Given the description of an element on the screen output the (x, y) to click on. 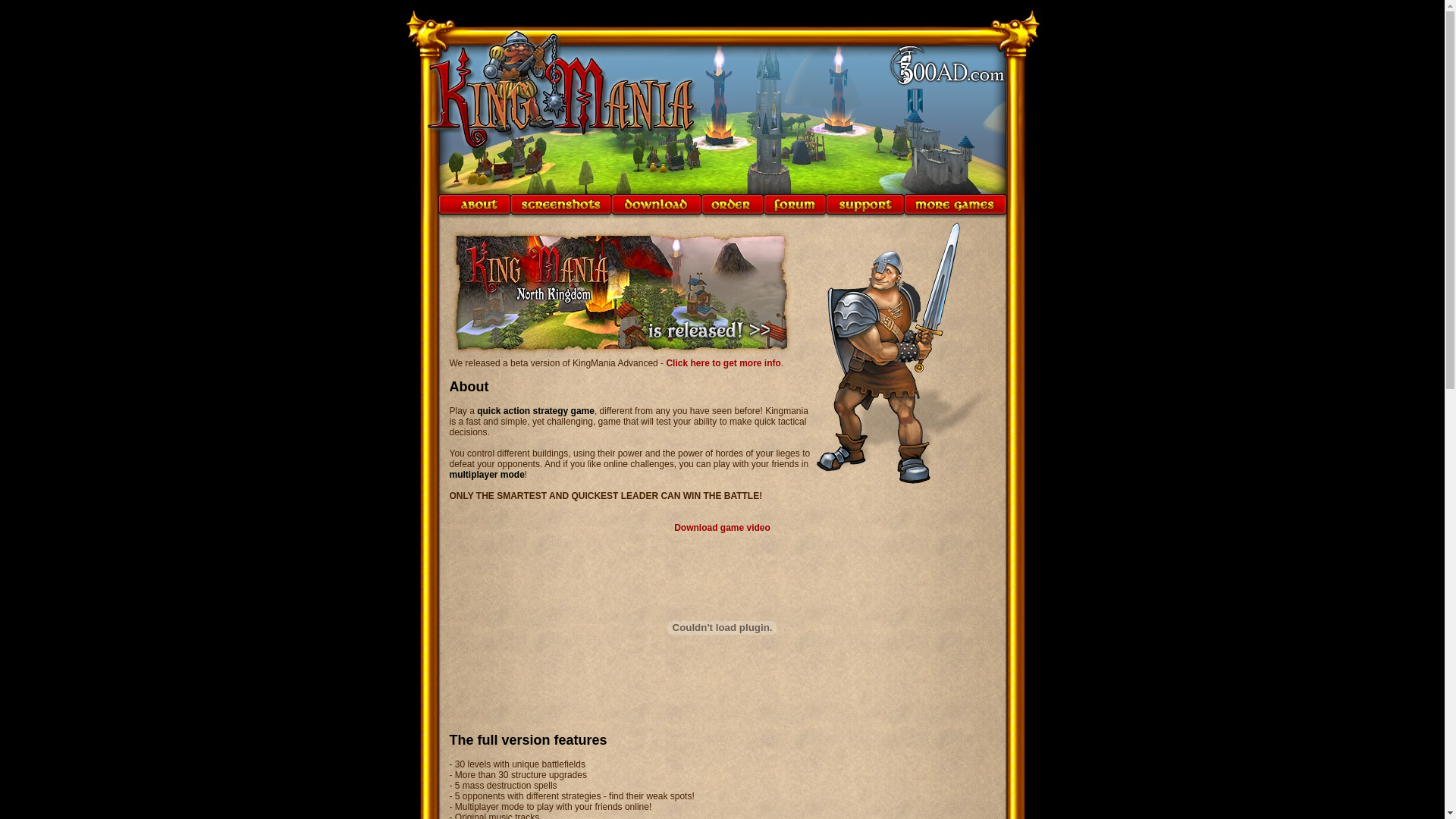
Click here to get more info Element type: text (722, 362)
Download game video Element type: text (722, 527)
